Given the description of an element on the screen output the (x, y) to click on. 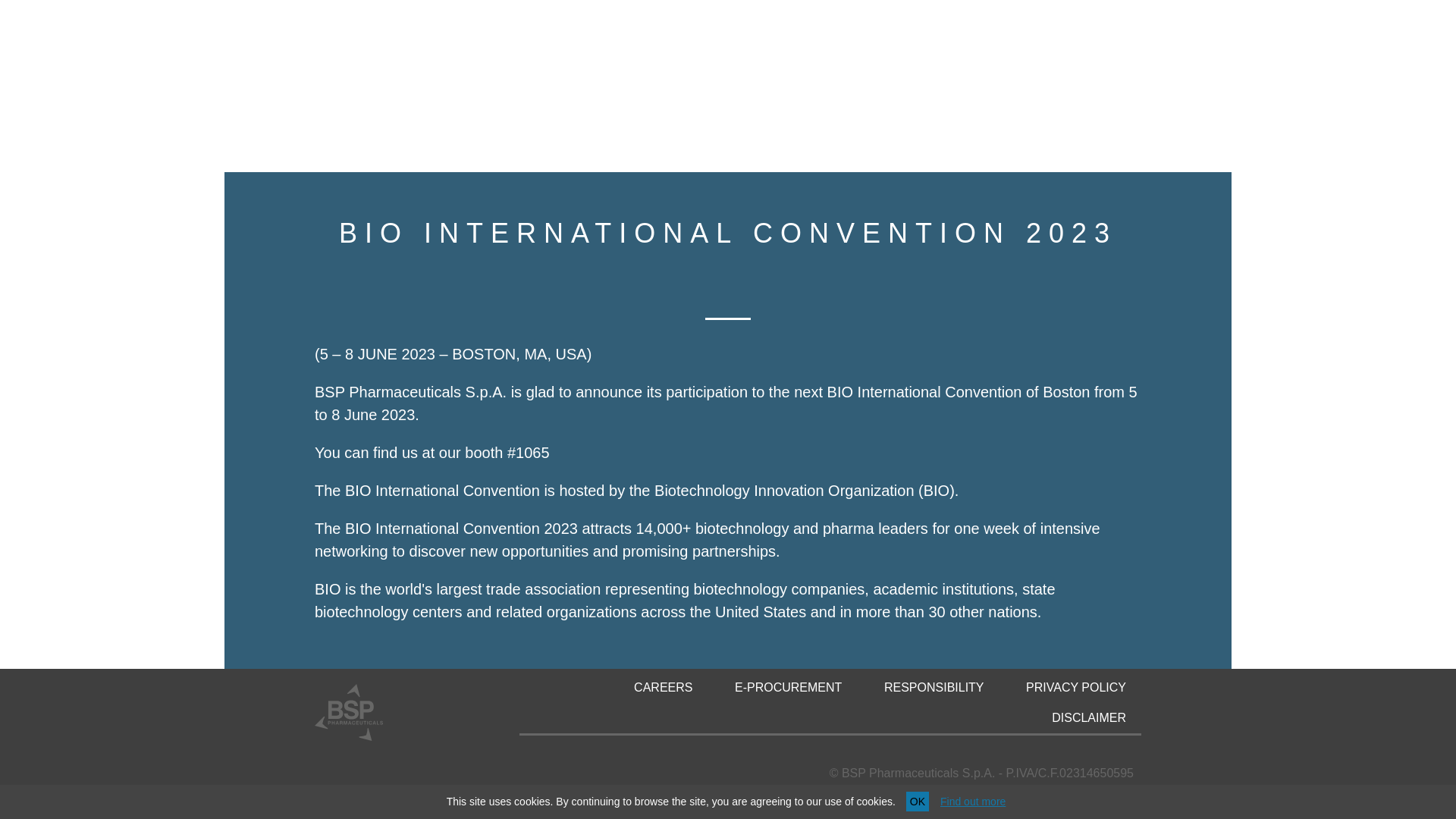
Find out more (973, 275)
OK (916, 275)
